Given the description of an element on the screen output the (x, y) to click on. 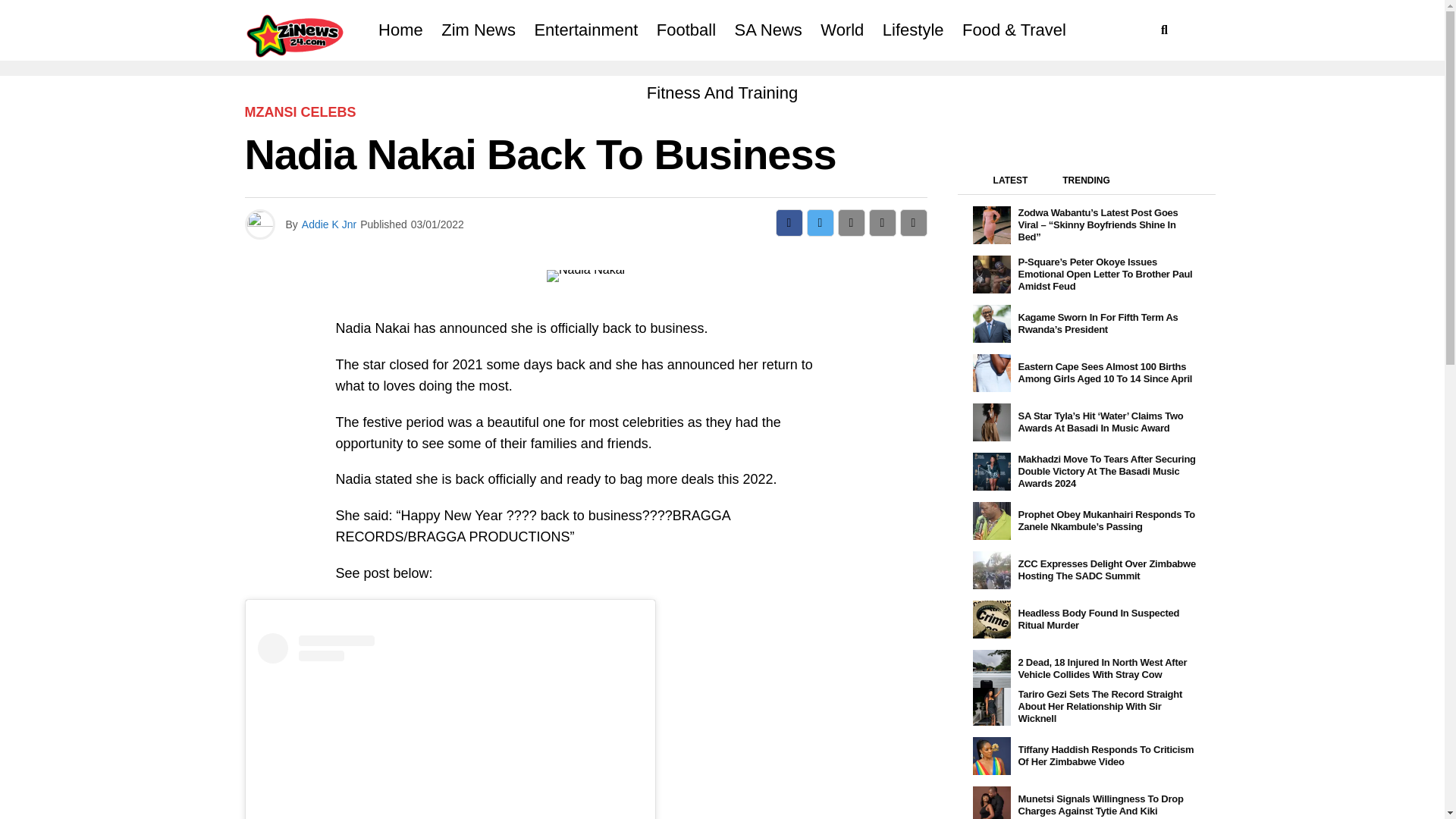
TRENDING (1086, 184)
Addie K Jnr (328, 224)
SA News (767, 30)
Home (400, 30)
Zim News (477, 30)
Fitness And Training (722, 93)
MZANSI CELEBS (299, 112)
World (841, 30)
Football (686, 30)
Posts by Addie K Jnr (328, 224)
